Given the description of an element on the screen output the (x, y) to click on. 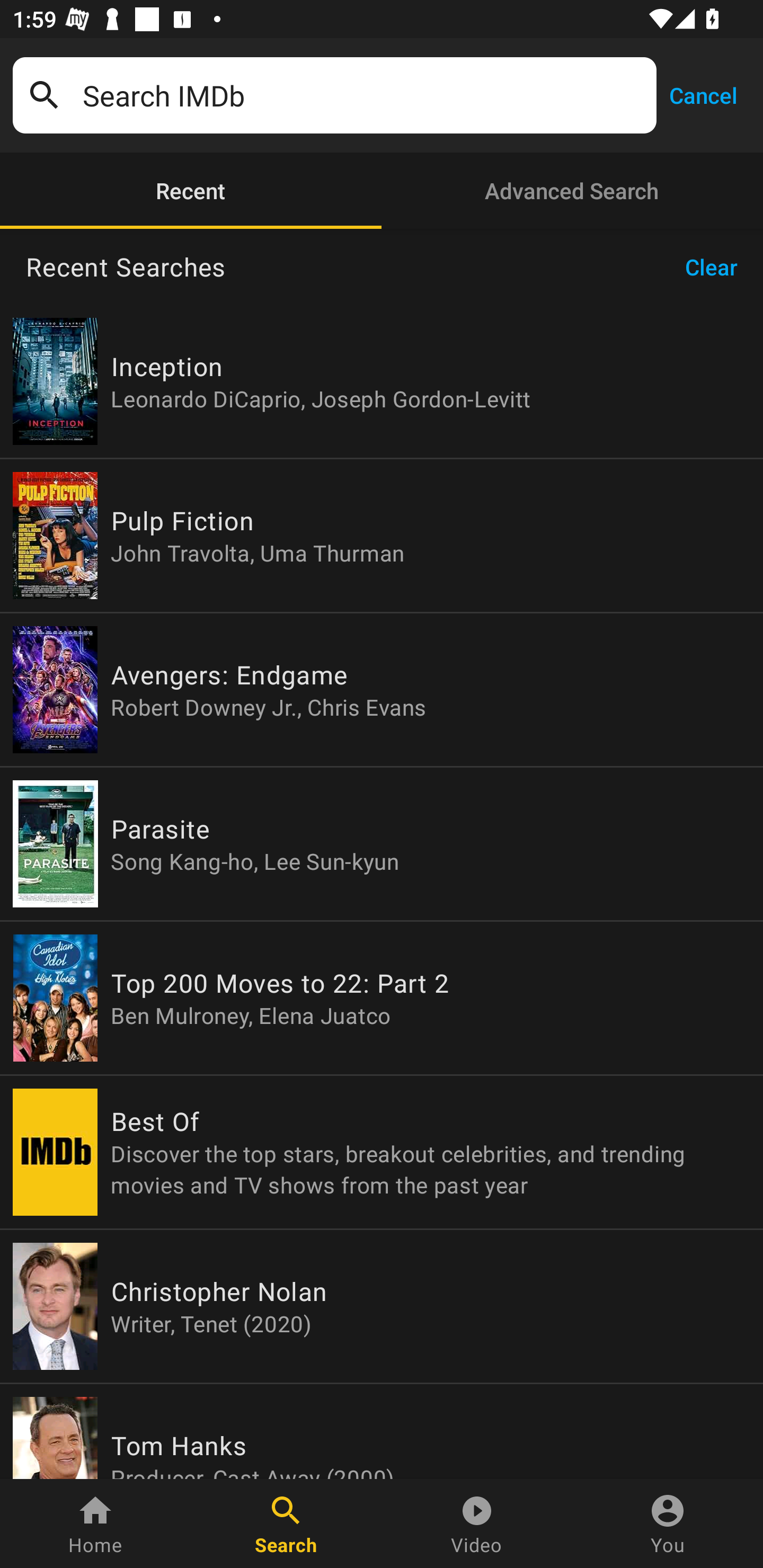
Cancel (703, 94)
Search IMDb (363, 95)
Advanced Search (572, 190)
Clear (717, 266)
Inception Leonardo DiCaprio, Joseph Gordon-Levitt (381, 381)
Pulp Fiction John Travolta, Uma Thurman (381, 535)
Avengers: Endgame Robert Downey Jr., Chris Evans (381, 689)
Parasite Song Kang-ho, Lee Sun-kyun (381, 844)
Christopher Nolan Writer, Tenet (2020) (381, 1305)
Tom Hanks Producer, Cast Away (2000) (381, 1431)
Home (95, 1523)
Video (476, 1523)
You (667, 1523)
